Given the description of an element on the screen output the (x, y) to click on. 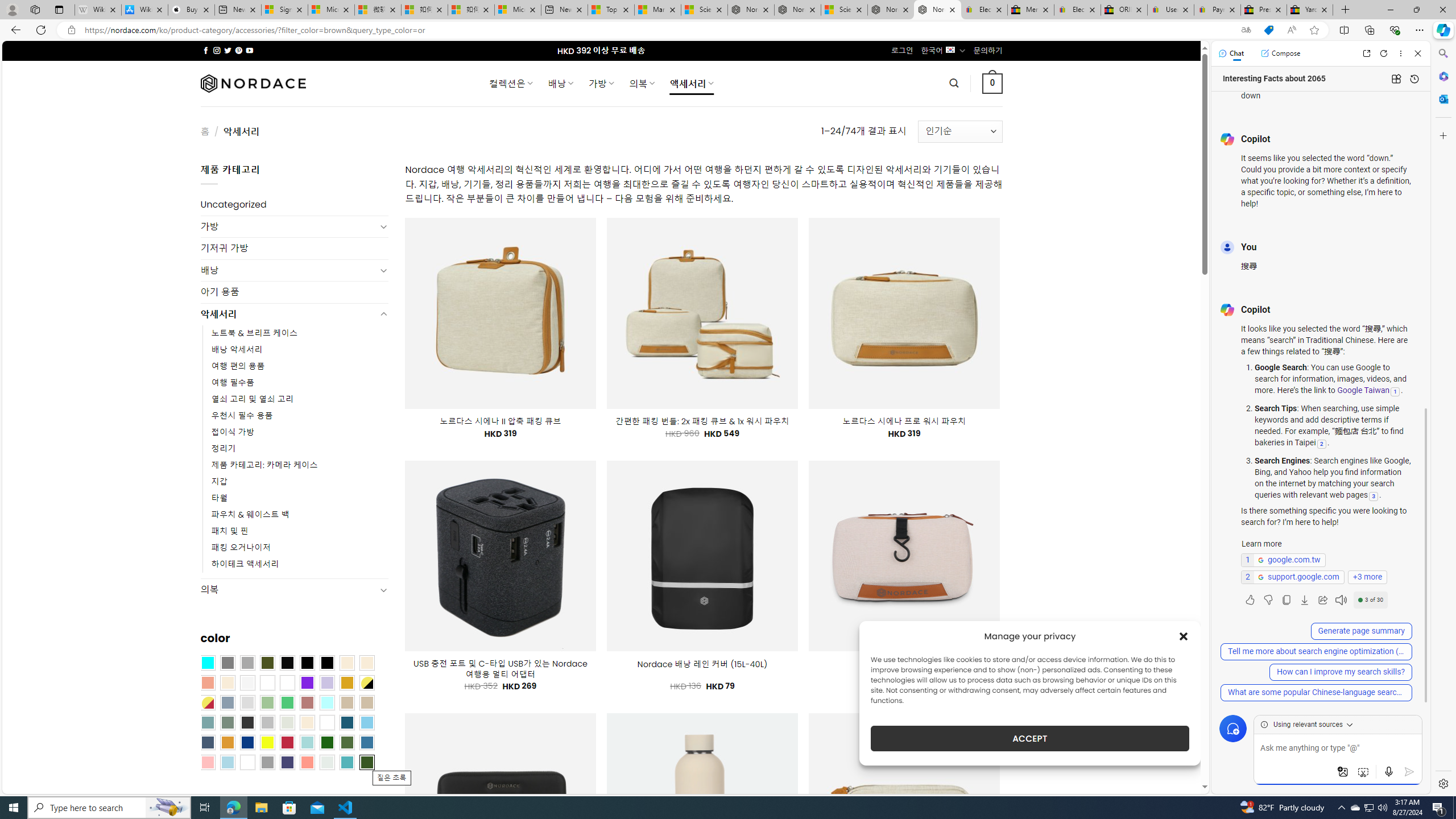
Follow on Pinterest (237, 50)
Compose (1280, 52)
Class: cmplz-close (1183, 636)
Follow on YouTube (249, 50)
Microsoft account | Account Checkup (517, 9)
